Given the description of an element on the screen output the (x, y) to click on. 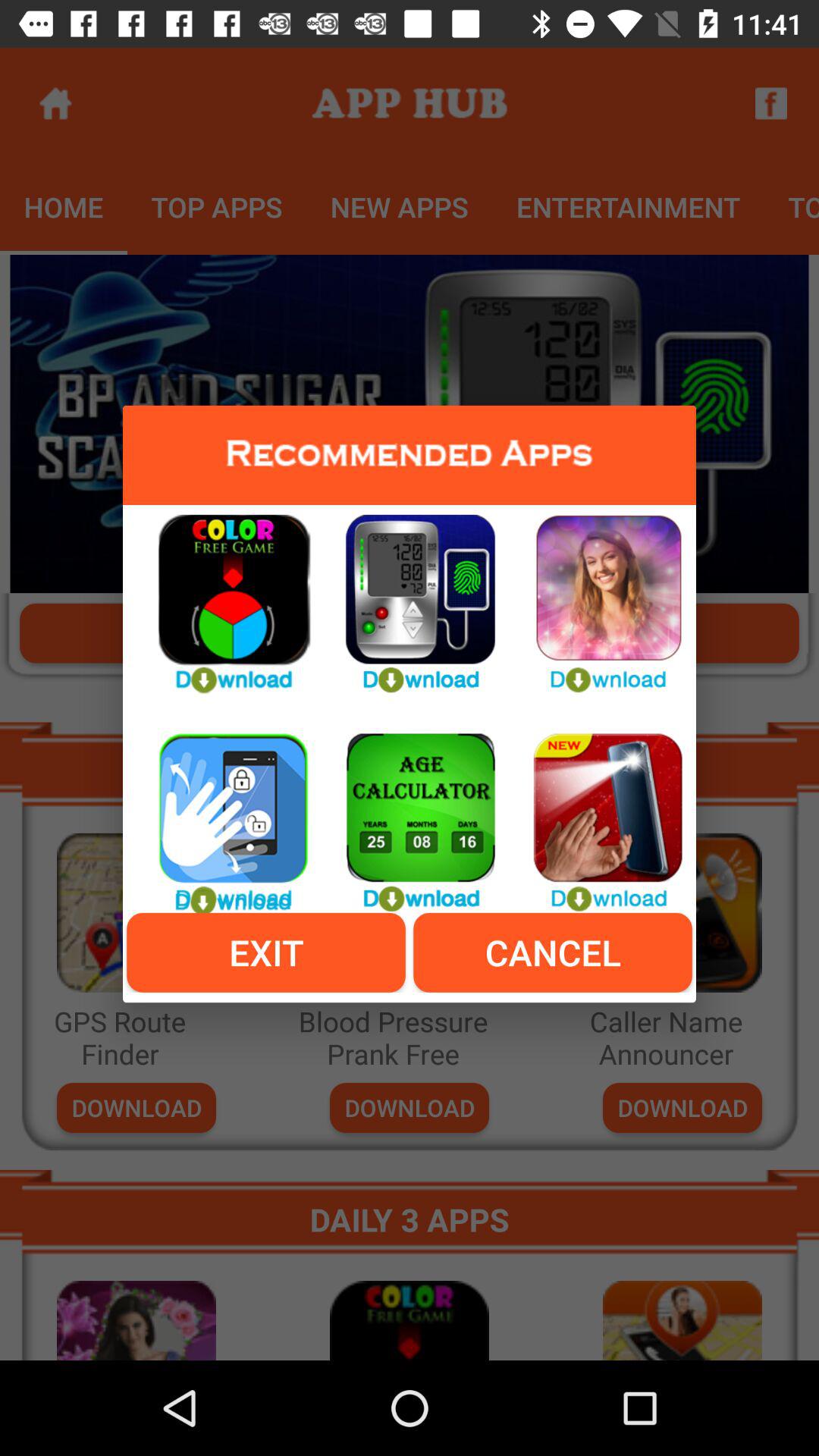
select for some image (596, 813)
